Given the description of an element on the screen output the (x, y) to click on. 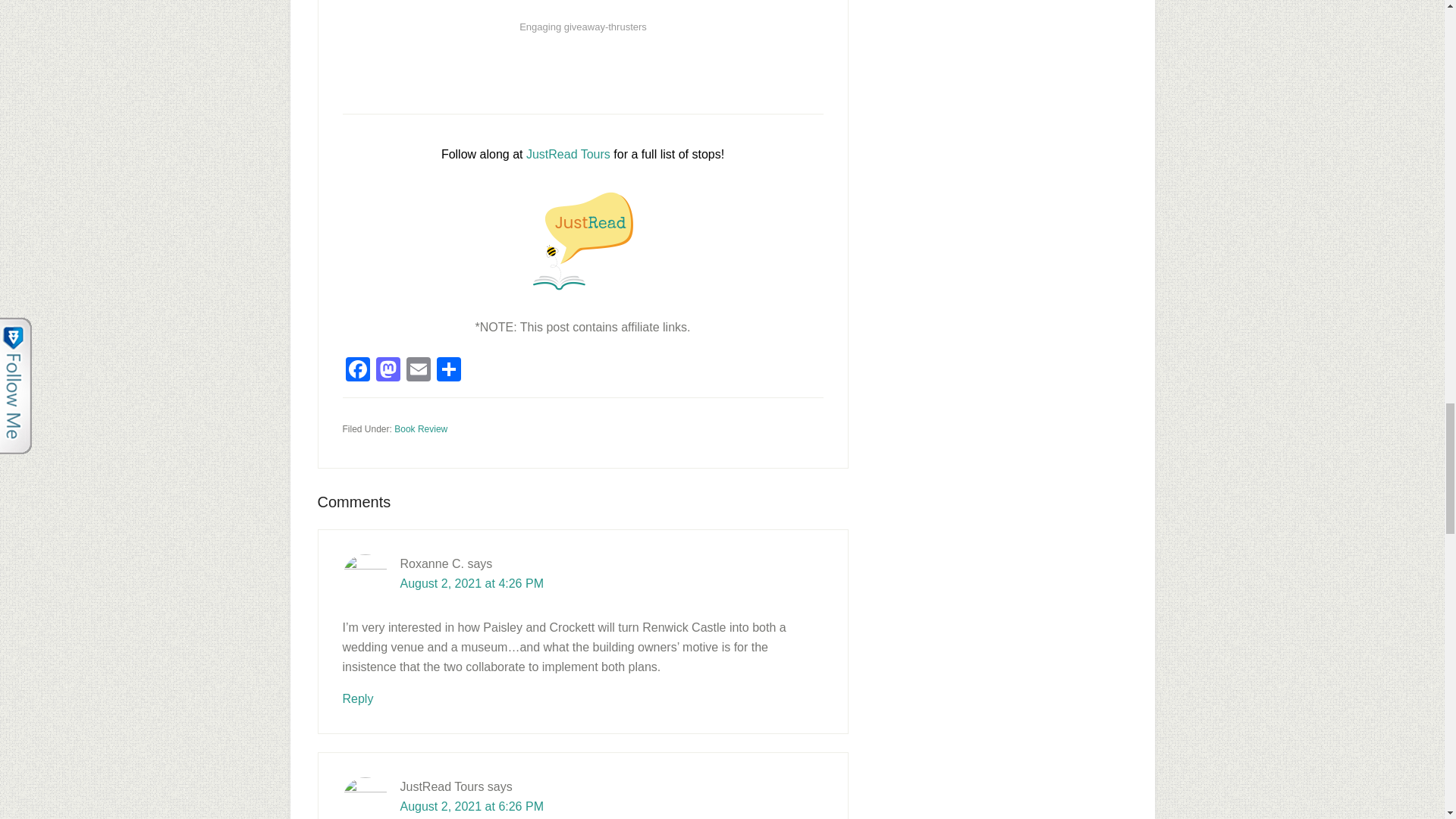
Email (418, 370)
Mastodon (387, 370)
Reply (358, 698)
JustRead Tours (567, 154)
Mastodon (387, 370)
Facebook (357, 370)
August 2, 2021 at 6:26 PM (471, 806)
Email (418, 370)
Book Review (420, 429)
Facebook (357, 370)
